Given the description of an element on the screen output the (x, y) to click on. 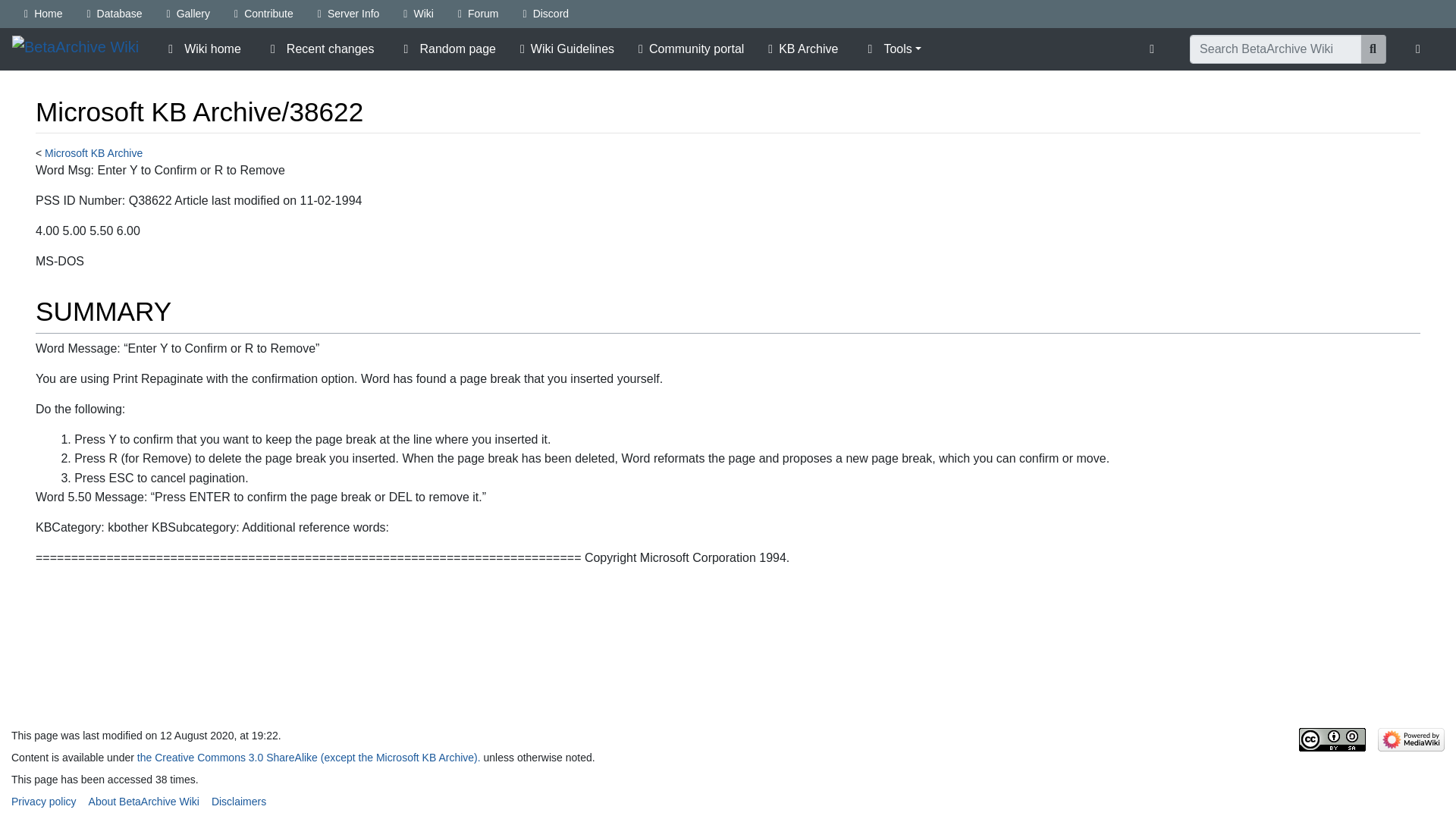
Wiki home (202, 49)
Community portal (690, 49)
About BetaArchive Wiki (143, 801)
Go (1372, 49)
Privacy policy (44, 801)
Home (42, 13)
Tools (891, 49)
Disclaimers (238, 801)
Go to a page with this exact name if it exists (1372, 49)
Forum (478, 13)
Wiki (418, 13)
Random page (446, 49)
Discord (545, 13)
Server Info (348, 13)
Page tools (1155, 49)
